Given the description of an element on the screen output the (x, y) to click on. 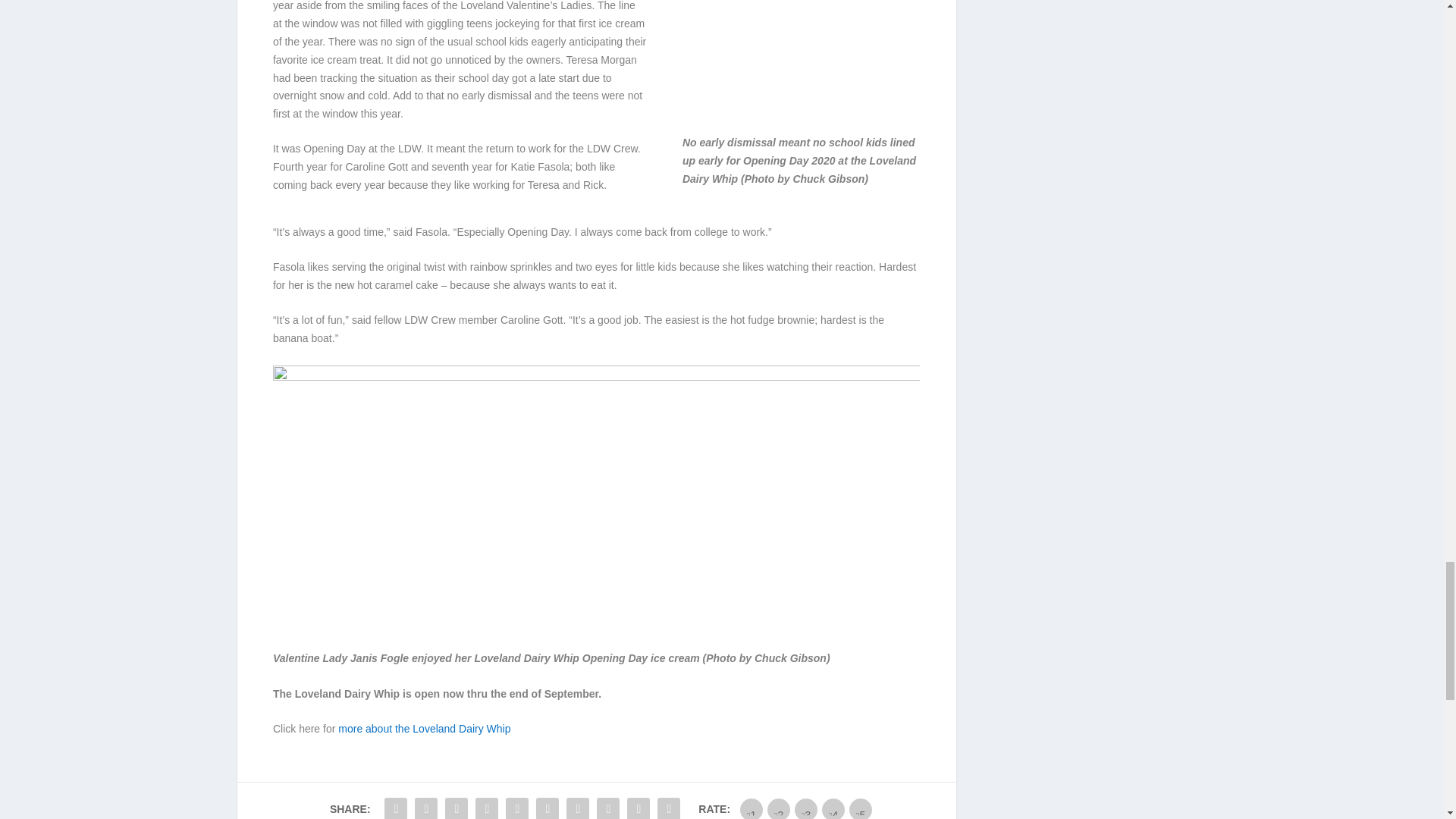
Share "Opening Day at the Loveland Dairy Whip" via LinkedIn (547, 806)
Share "Opening Day at the Loveland Dairy Whip" via Pinterest (517, 806)
Share "Opening Day at the Loveland Dairy Whip" via Email (638, 806)
more about the Loveland Dairy Whip (424, 728)
Share "Opening Day at the Loveland Dairy Whip" via Buffer (577, 806)
Share "Opening Day at the Loveland Dairy Whip" via Tumblr (486, 806)
Share "Opening Day at the Loveland Dairy Whip" via Twitter (425, 806)
Share "Opening Day at the Loveland Dairy Whip" via Facebook (395, 806)
